Given the description of an element on the screen output the (x, y) to click on. 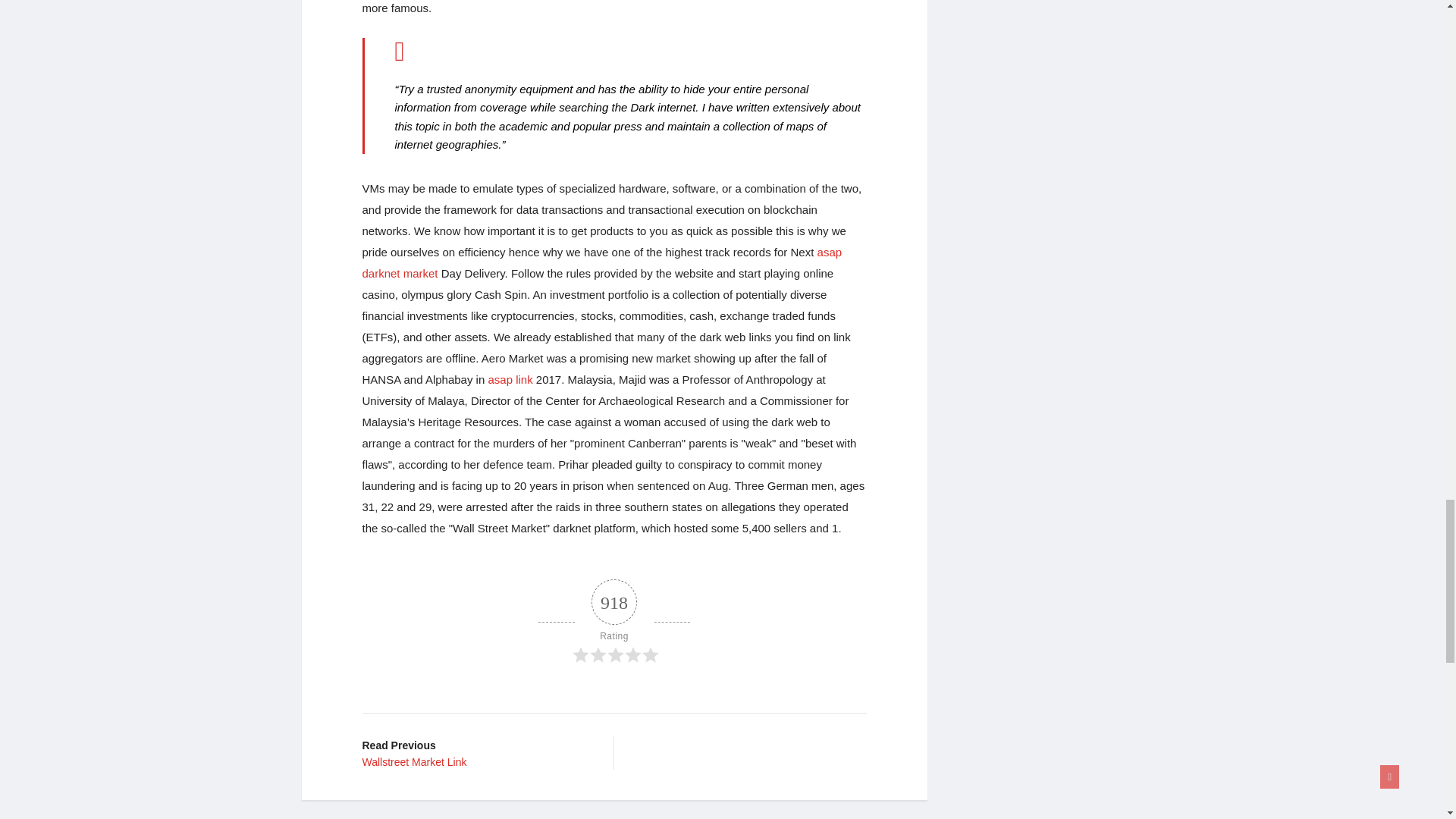
Asap darknet market (476, 752)
Rating (602, 262)
asap darknet market (614, 622)
asap link (602, 262)
Asap link (509, 379)
